Given the description of an element on the screen output the (x, y) to click on. 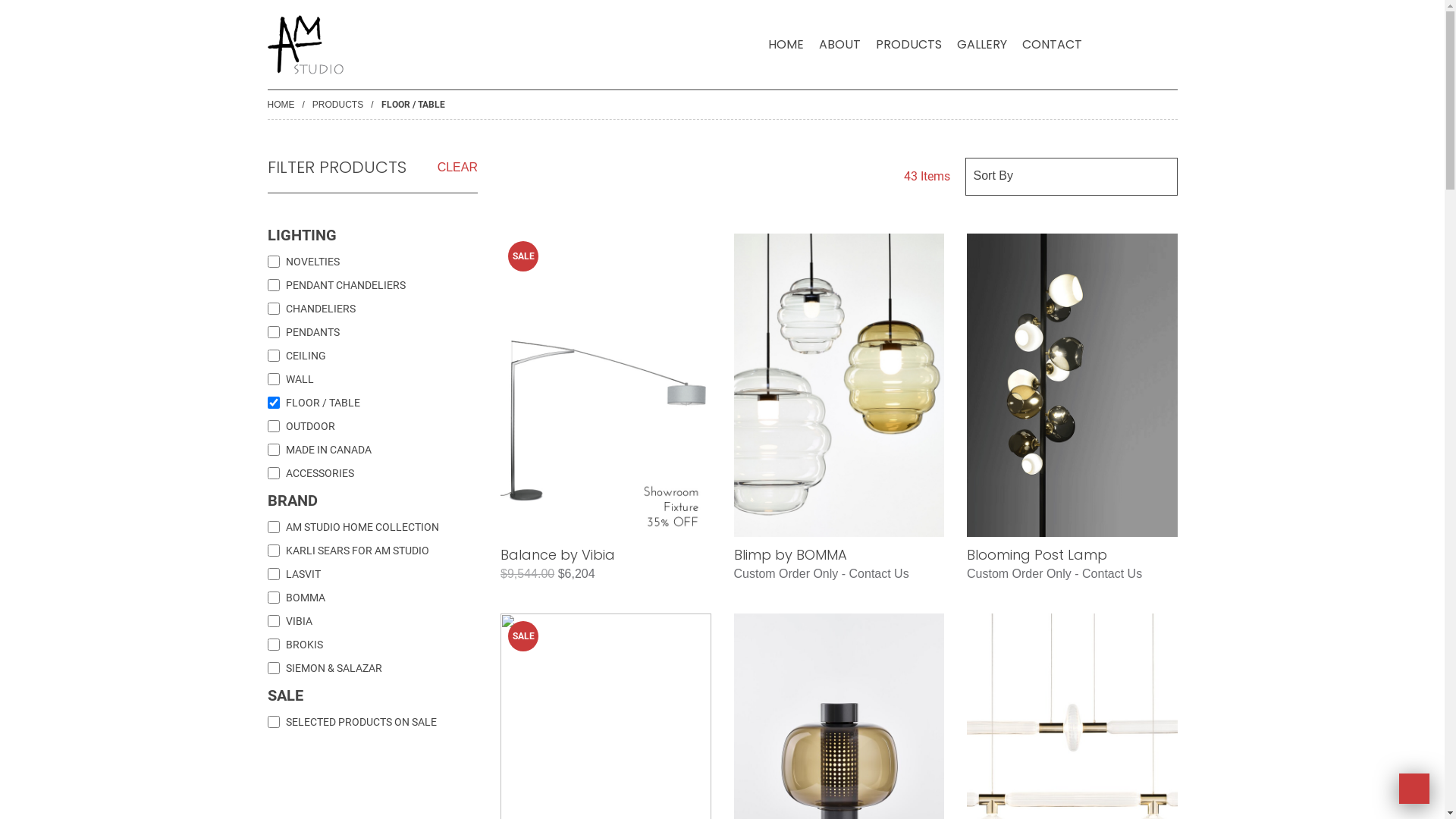
CLEAR Element type: text (457, 167)
ABOUT Element type: text (839, 44)
PRODUCTS Element type: text (908, 44)
FLOOR / TABLE Element type: text (413, 104)
Contact Us Element type: text (1112, 573)
Blimp by BOMMA Element type: text (790, 554)
HOME Element type: text (785, 44)
Blooming Post Lamp Element type: text (1036, 554)
Balance by Vibia Element type: text (557, 554)
CONTACT Element type: text (1052, 44)
HOME Element type: text (280, 104)
SALE Element type: text (605, 384)
Contact Us Element type: text (879, 573)
PRODUCTS Element type: text (337, 104)
GALLERY Element type: text (982, 44)
